Given the description of an element on the screen output the (x, y) to click on. 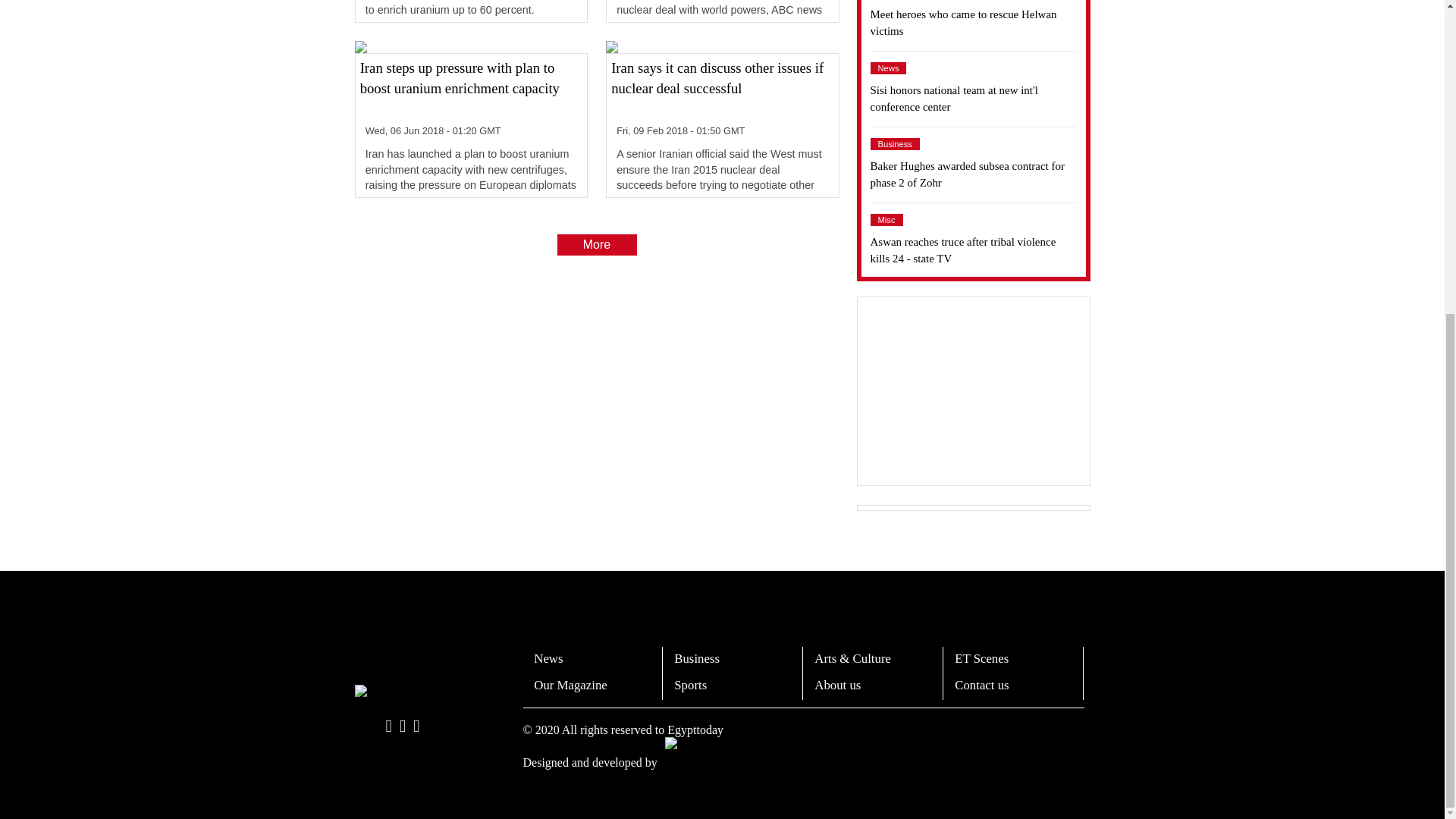
Meet heroes who came to rescue Helwan victims (973, 22)
News (888, 68)
EgyptToday (419, 691)
